Given the description of an element on the screen output the (x, y) to click on. 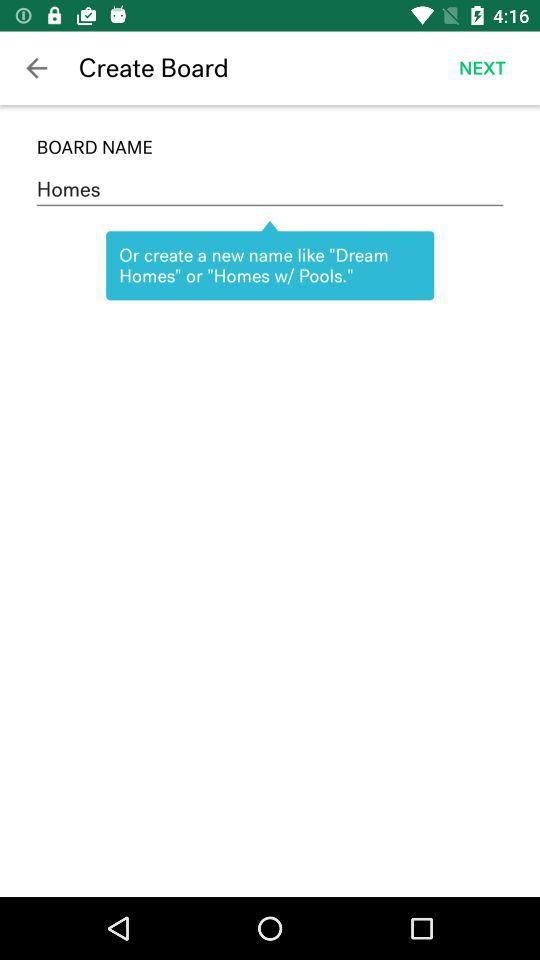
open the next icon (482, 68)
